Given the description of an element on the screen output the (x, y) to click on. 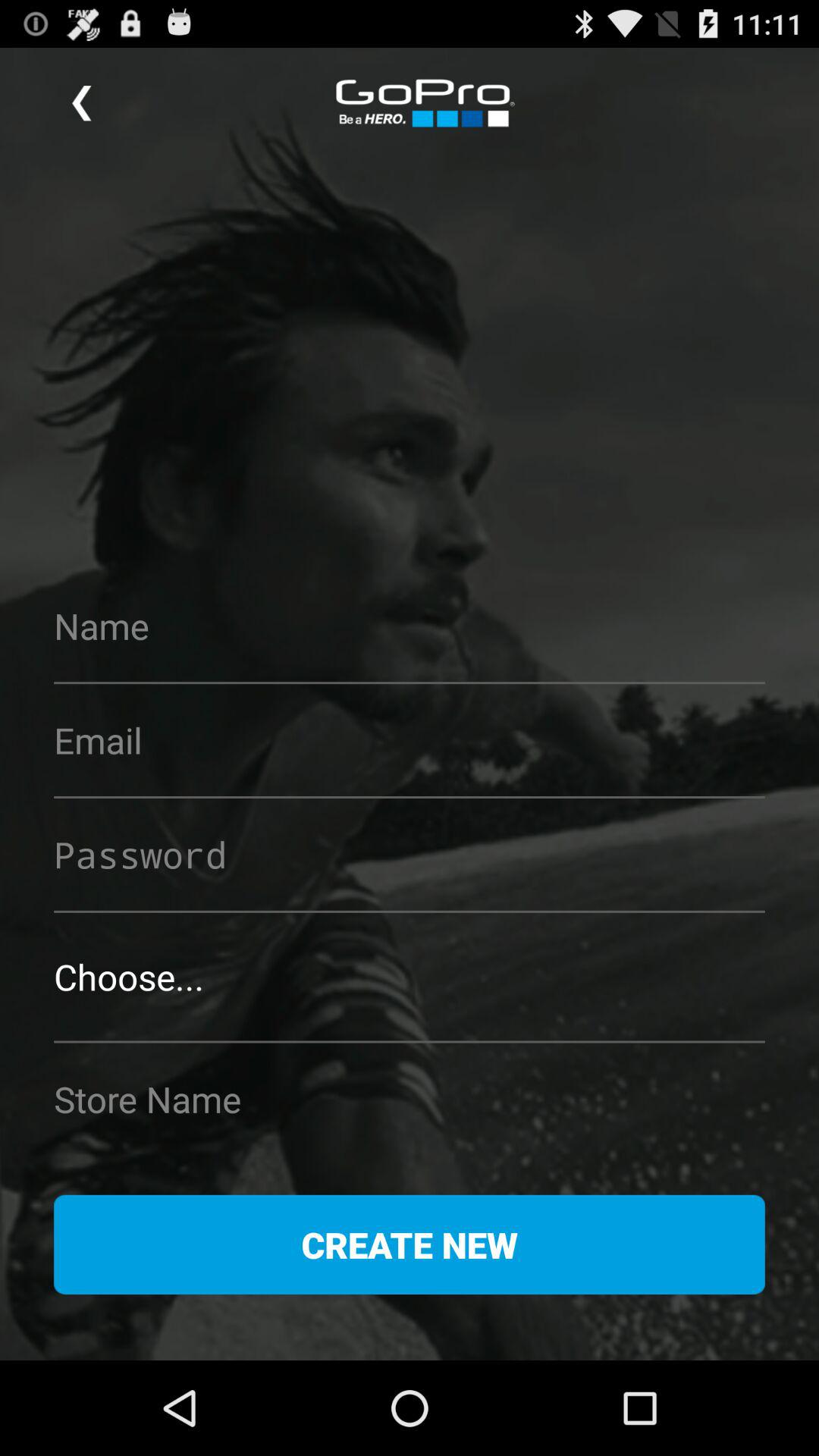
enter password (409, 854)
